Given the description of an element on the screen output the (x, y) to click on. 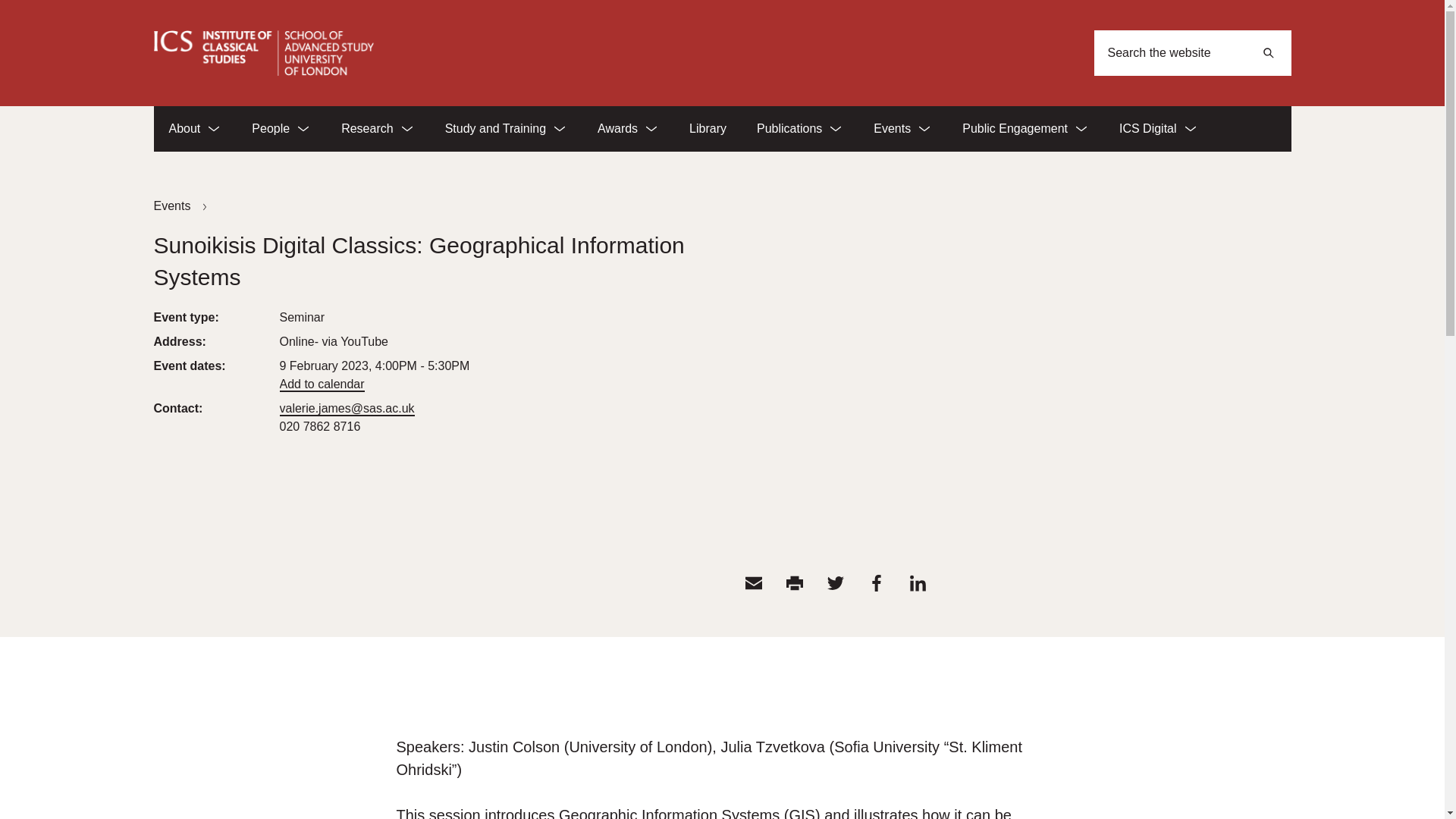
Study and Training (505, 128)
Home (262, 53)
About (193, 128)
People (280, 128)
Search (1267, 53)
Research (377, 128)
